Given the description of an element on the screen output the (x, y) to click on. 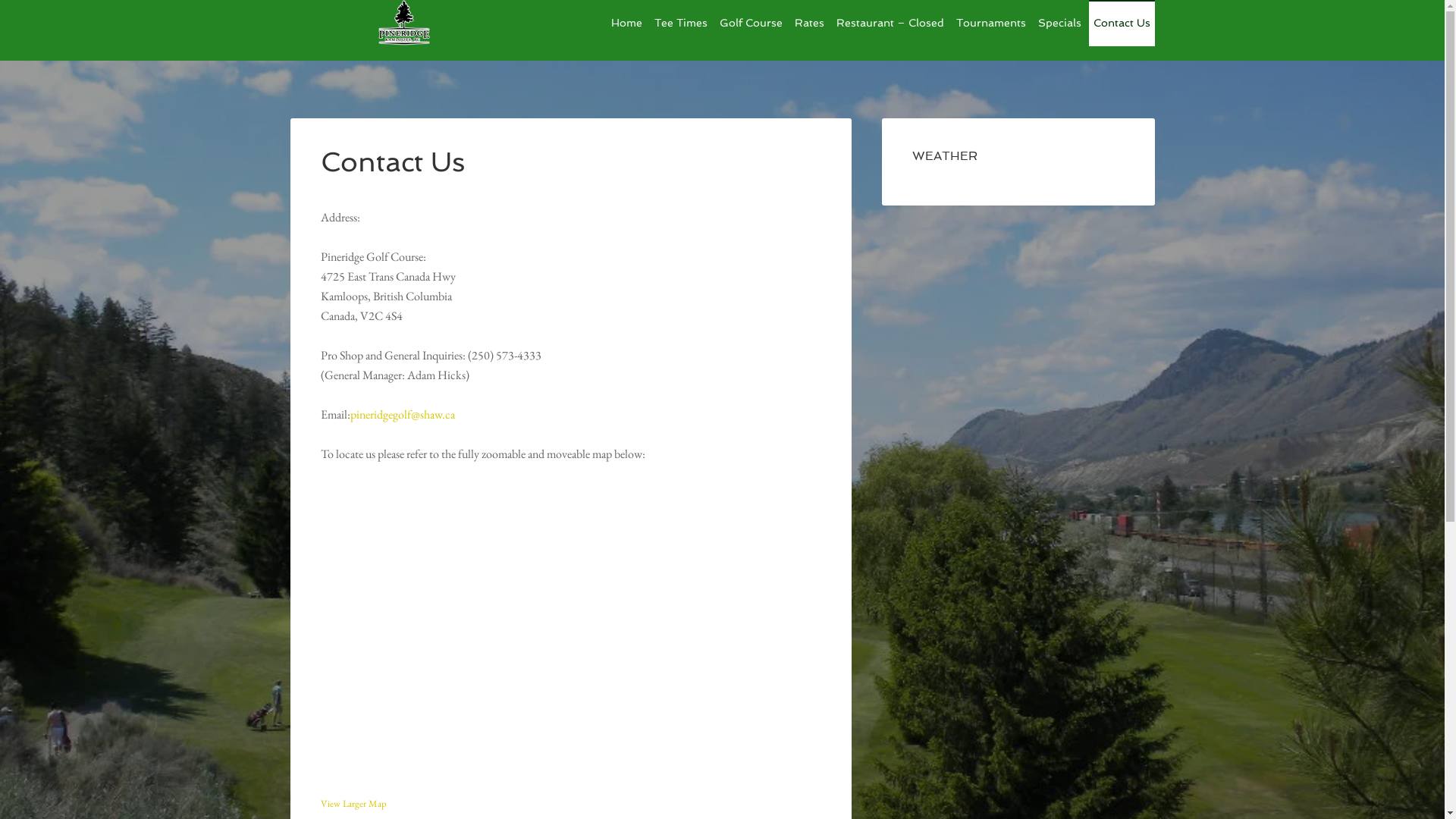
pineridgegolf@shaw.ca Element type: text (402, 414)
Golf Course Element type: text (750, 23)
PINERIDGE GOLF COURSE Element type: text (403, 30)
Tournaments Element type: text (989, 23)
Tee Times Element type: text (680, 23)
Skip to main content Element type: text (0, 46)
Contact Us Element type: text (1121, 23)
Specials Element type: text (1058, 23)
Home Element type: text (626, 23)
Rates Element type: text (809, 23)
View Larger Map Element type: text (352, 803)
